Given the description of an element on the screen output the (x, y) to click on. 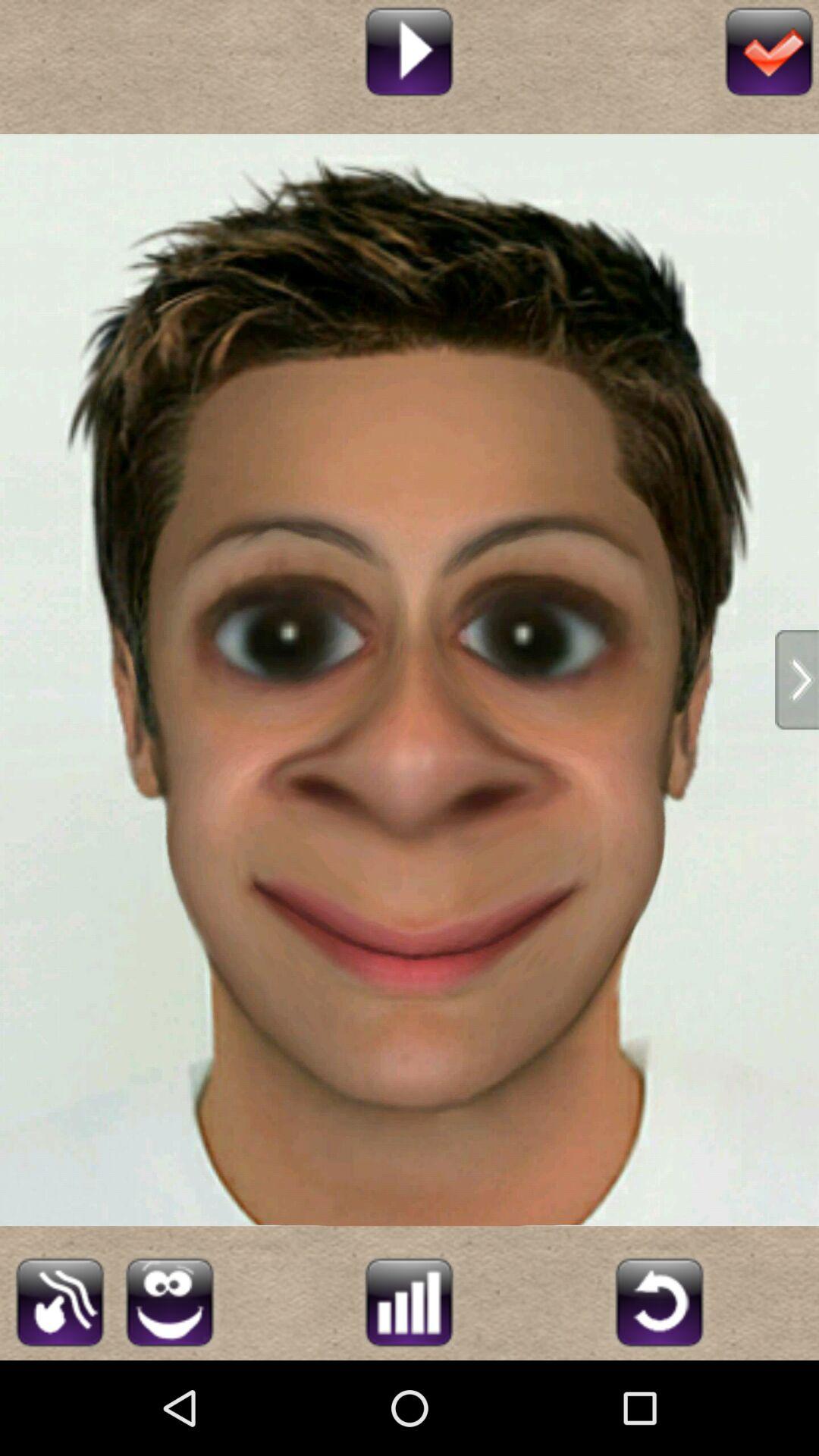
turn on the icon at the bottom right corner (659, 1300)
